Given the description of an element on the screen output the (x, y) to click on. 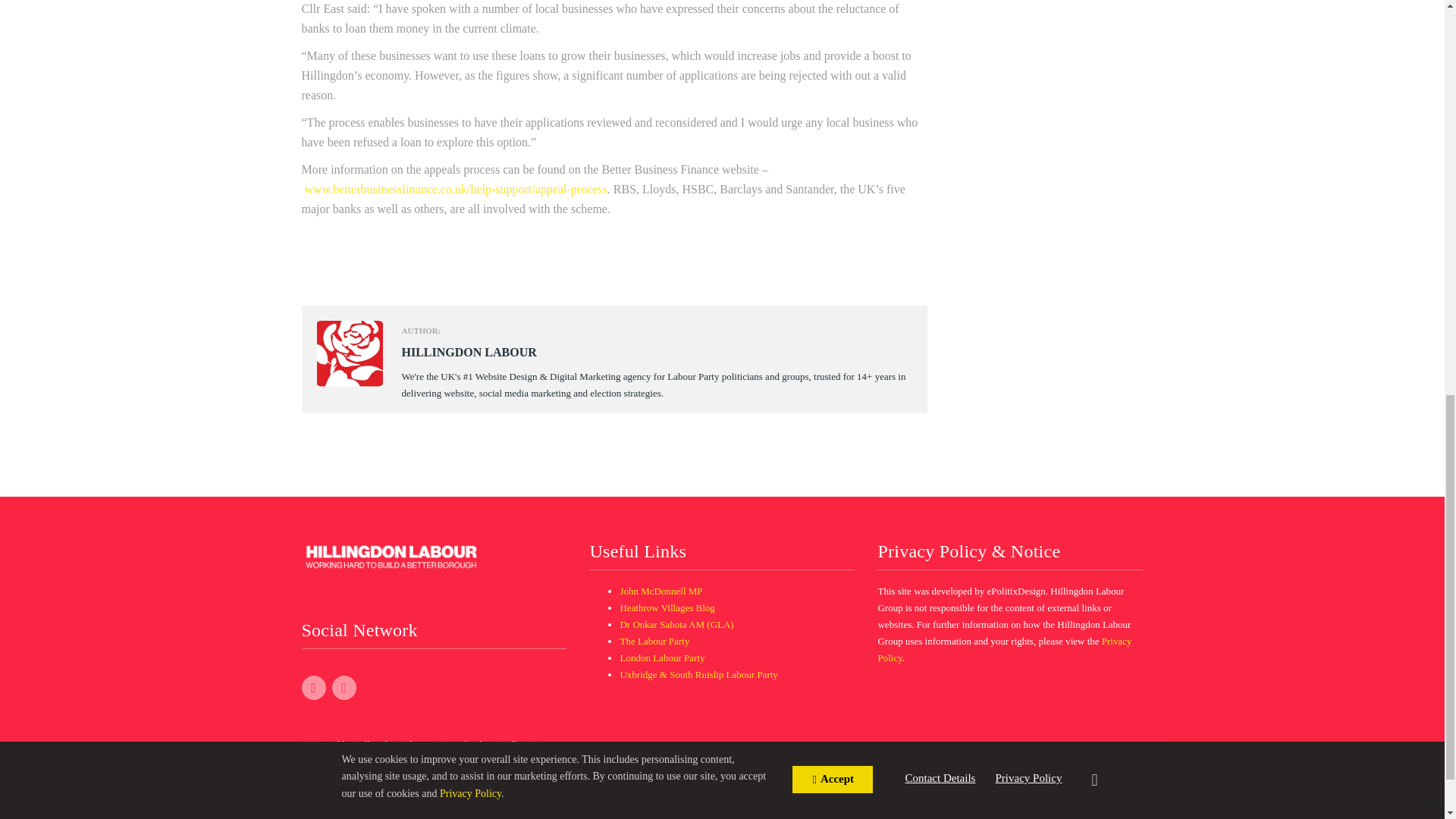
London Labour Party (662, 657)
Privacy Policy (1004, 649)
The Labour Party (654, 641)
John McDonnell MP (660, 591)
Heathrow Villages Blog (667, 607)
Heathrow Villages Blog (667, 607)
